Given the description of an element on the screen output the (x, y) to click on. 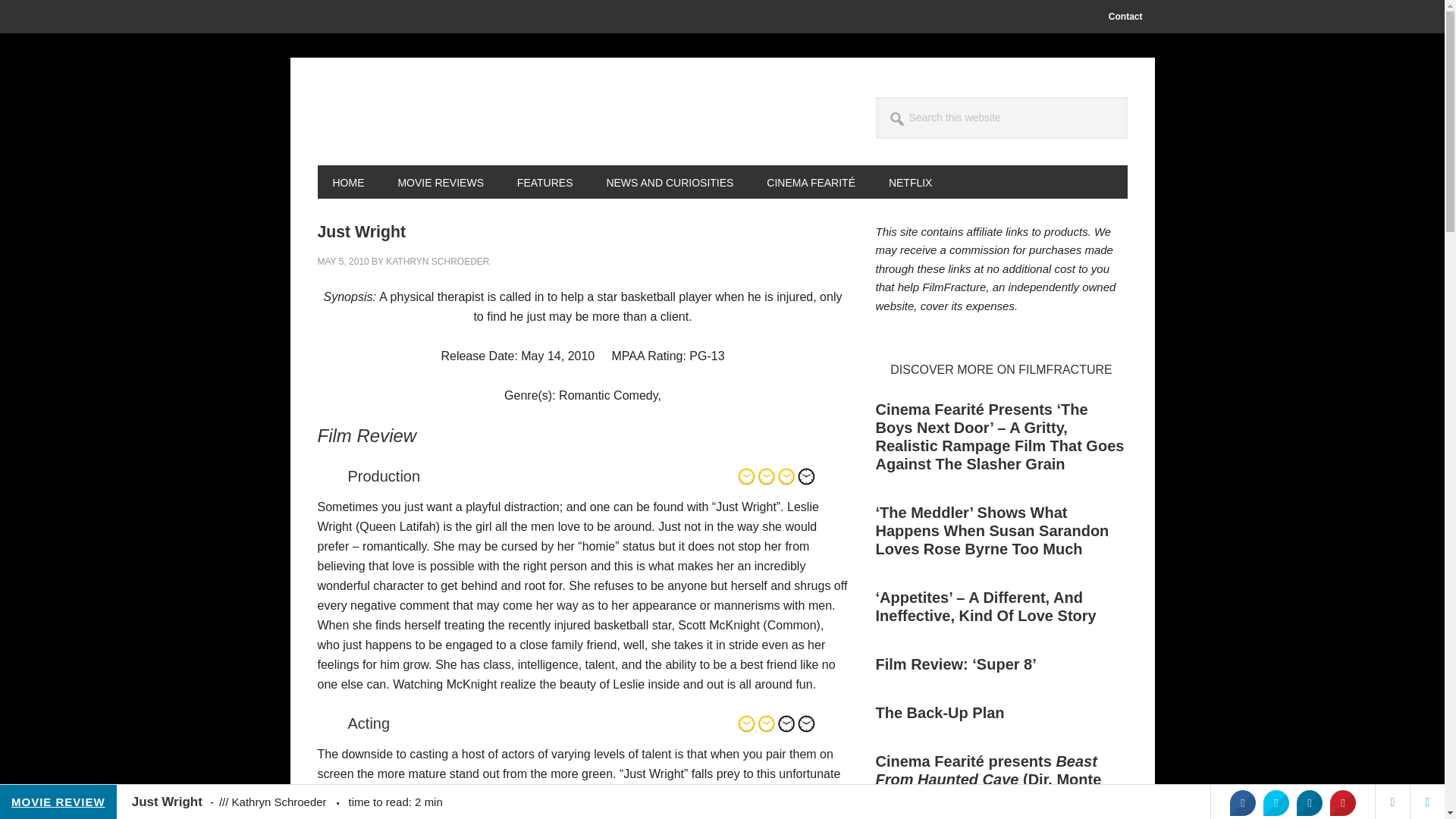
The Back-Up Plan (939, 712)
NEWS AND CURIOSITIES (669, 182)
FEATURES (545, 182)
Share on Facebook (1242, 802)
KATHRYN SCHROEDER (437, 261)
MOVIE REVIEWS (440, 182)
Share on Pinterest (1342, 802)
Share on Twitter (1275, 802)
MOVIE REVIEW (58, 801)
